Given the description of an element on the screen output the (x, y) to click on. 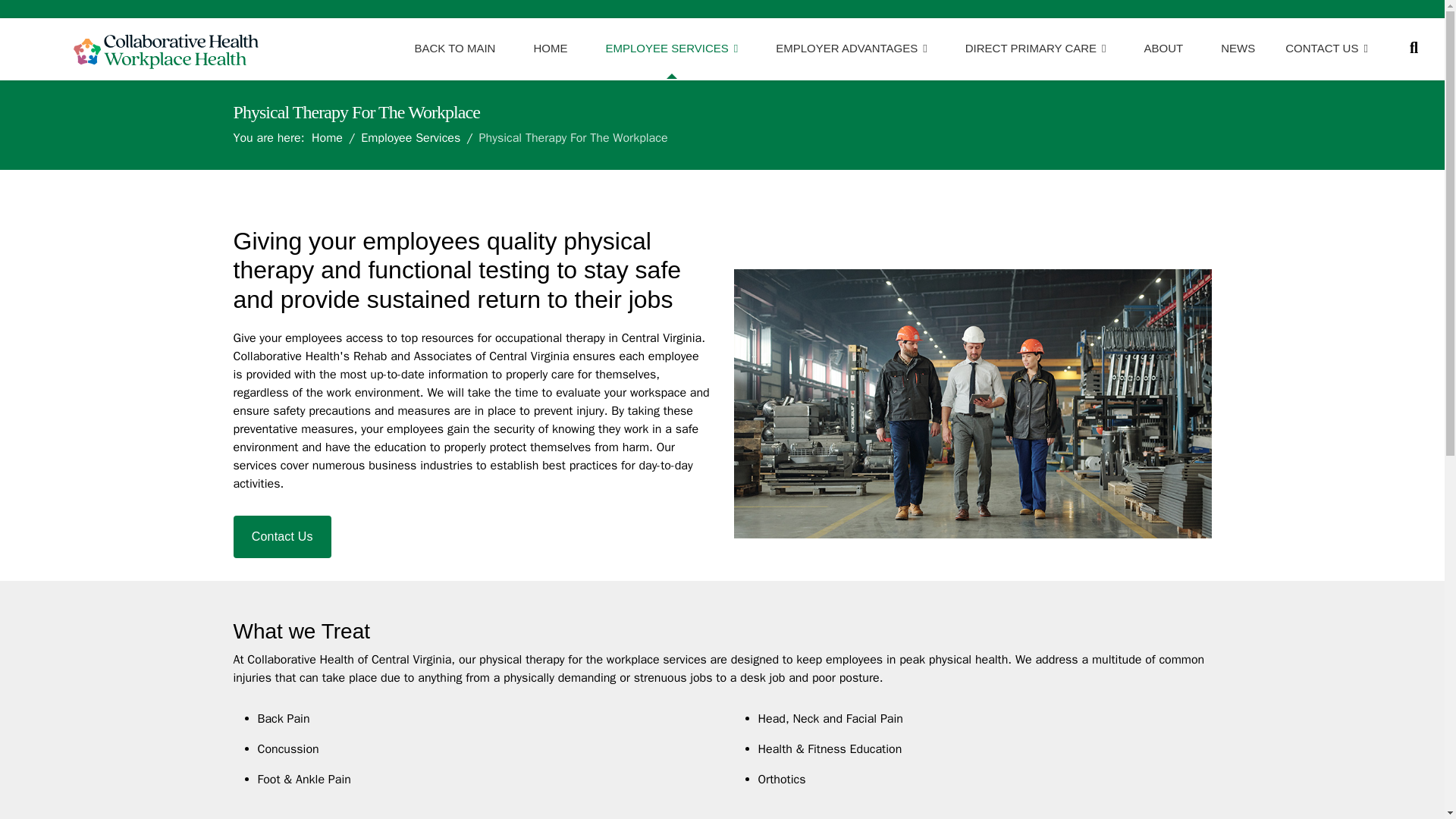
NEWS (1238, 48)
HOME (549, 48)
EMPLOYER ADVANTAGES (850, 48)
CONTACT US (1321, 48)
BACK TO MAIN (453, 48)
ABOUT (1163, 48)
Home (326, 137)
DIRECT PRIMARY CARE (1035, 48)
Employee Services (410, 137)
Contact Us (281, 536)
